Given the description of an element on the screen output the (x, y) to click on. 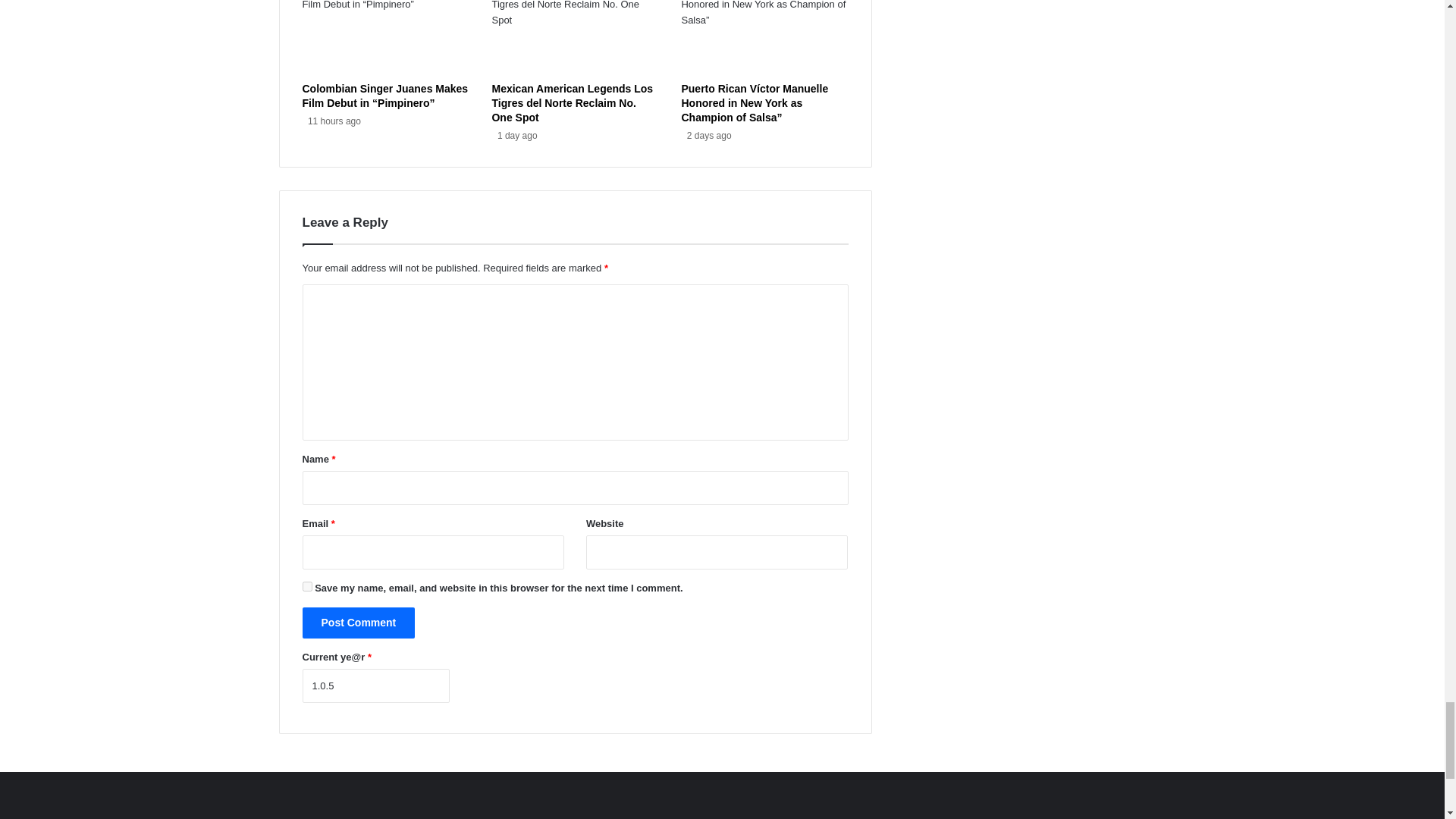
yes (306, 586)
Post Comment (357, 622)
1.0.5 (374, 685)
